Given the description of an element on the screen output the (x, y) to click on. 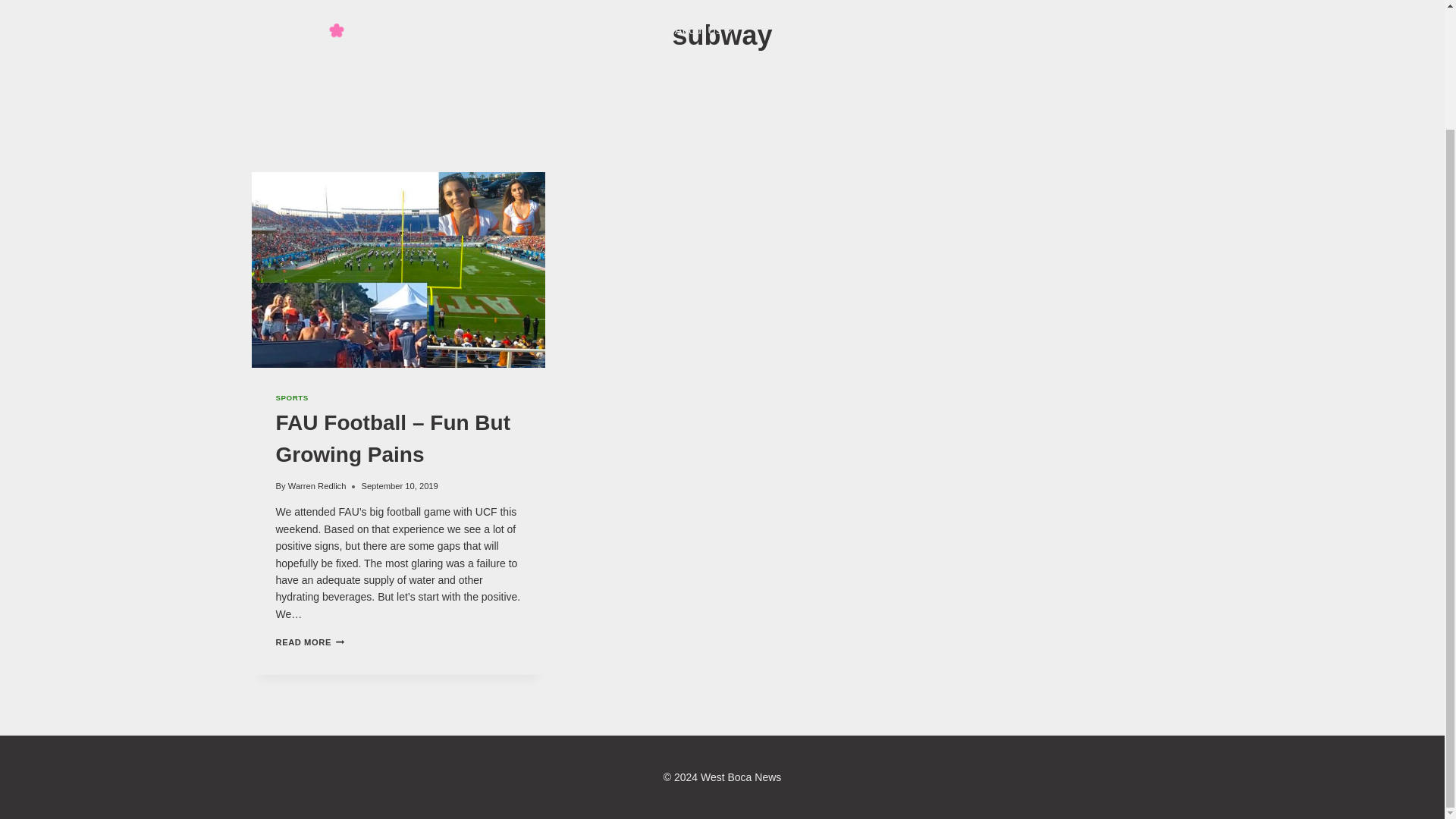
SPORTS (292, 397)
Warren Redlich (317, 485)
